Given the description of an element on the screen output the (x, y) to click on. 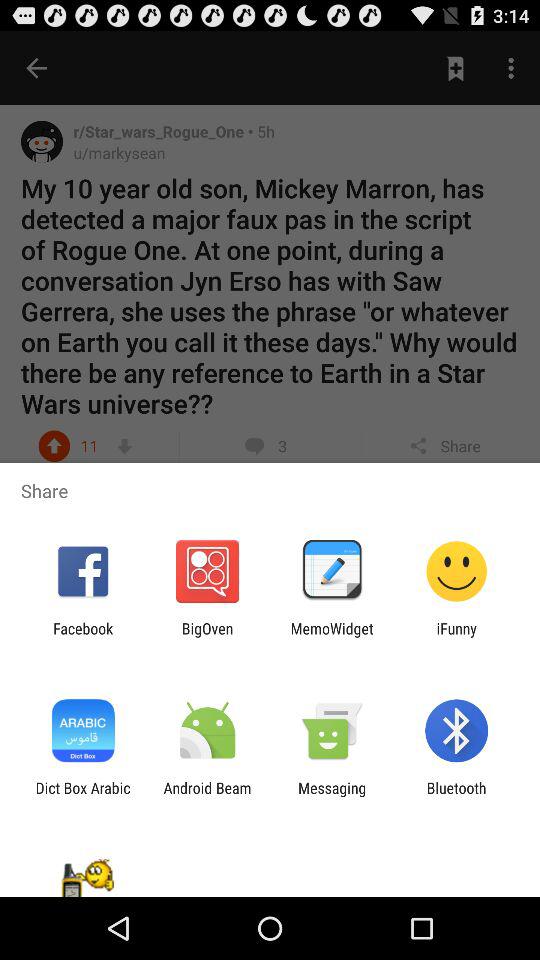
jump to the android beam app (207, 796)
